Given the description of an element on the screen output the (x, y) to click on. 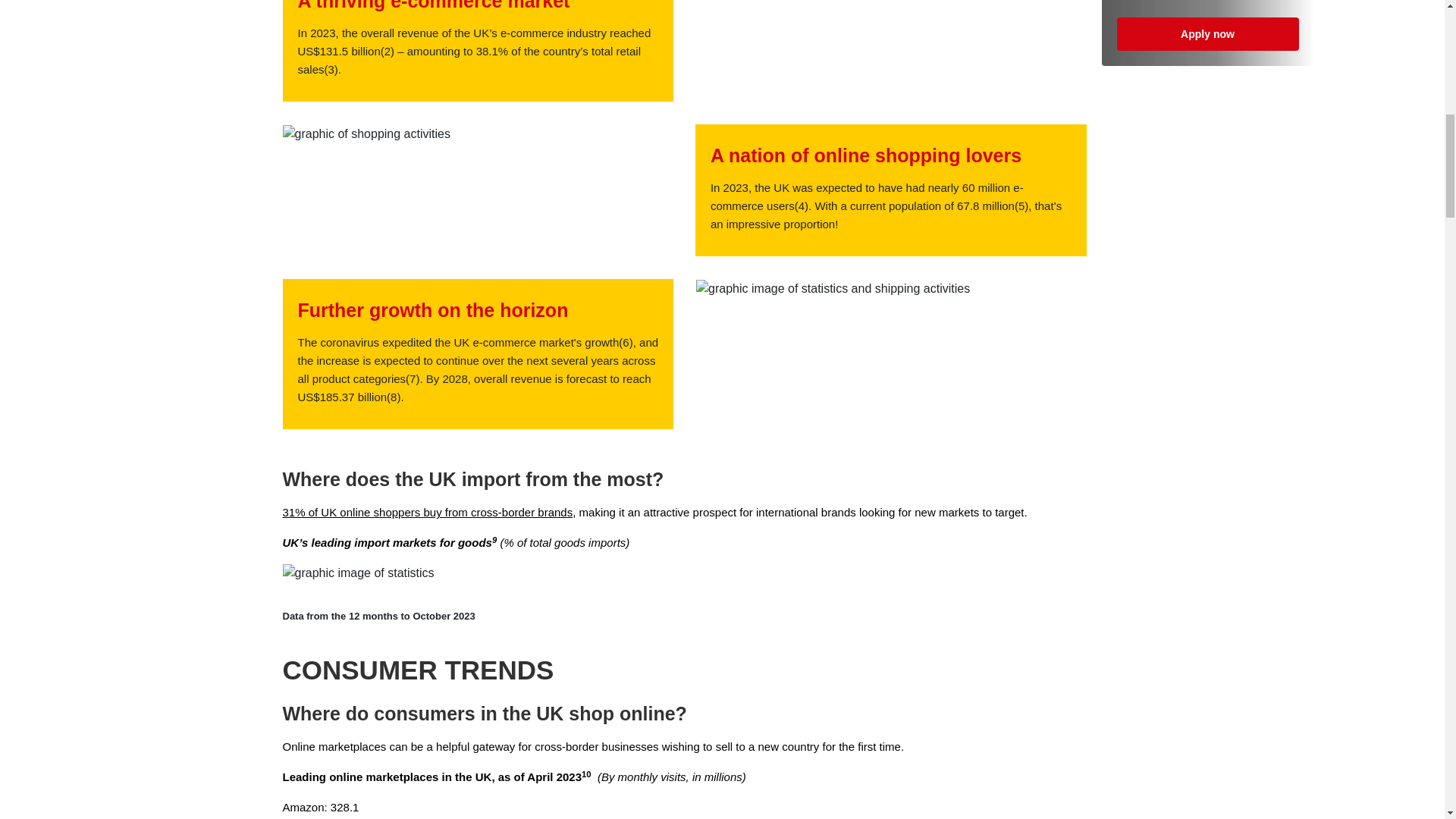
Apply now (1207, 33)
